Given the description of an element on the screen output the (x, y) to click on. 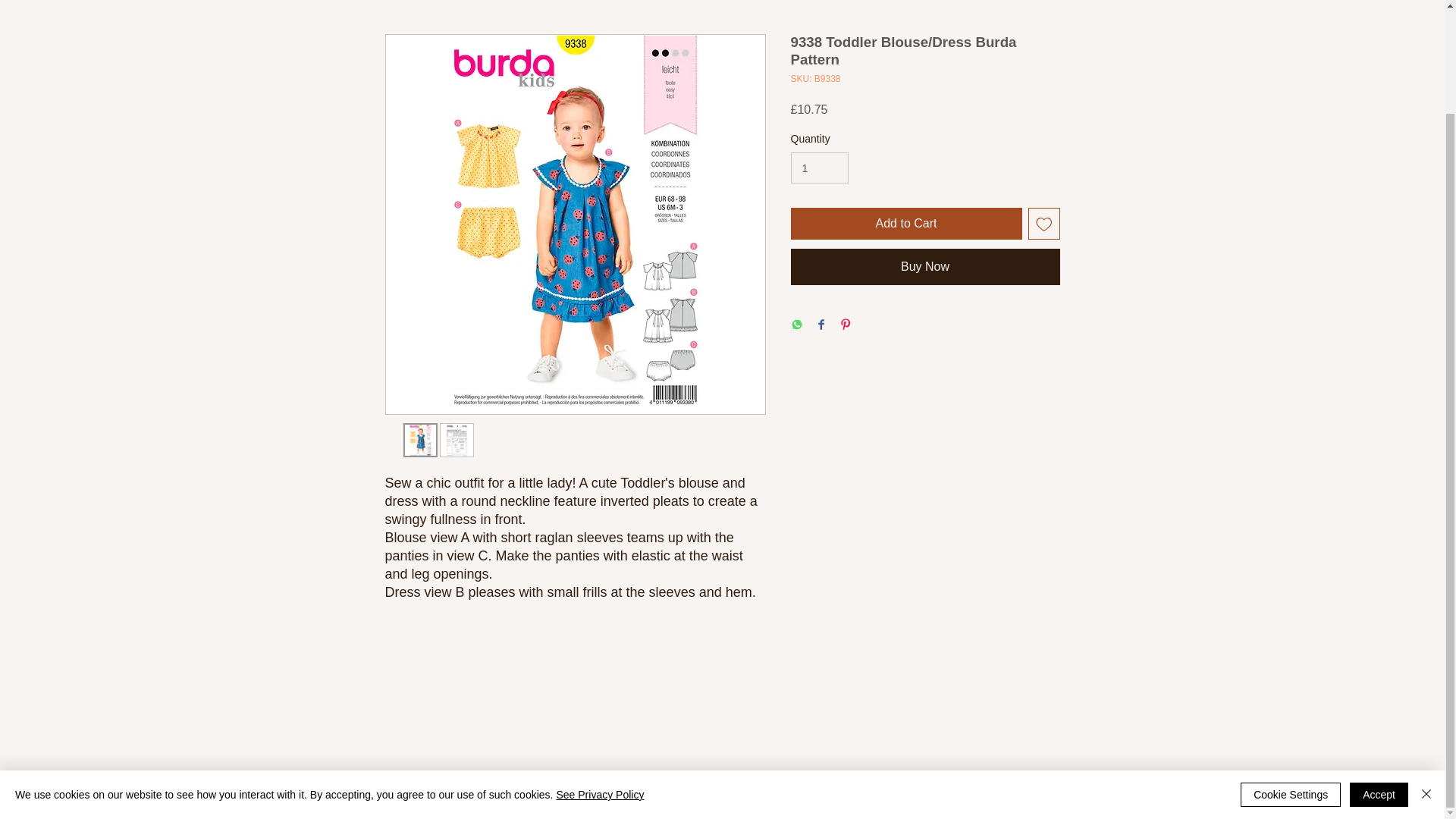
1 (818, 167)
